Given the description of an element on the screen output the (x, y) to click on. 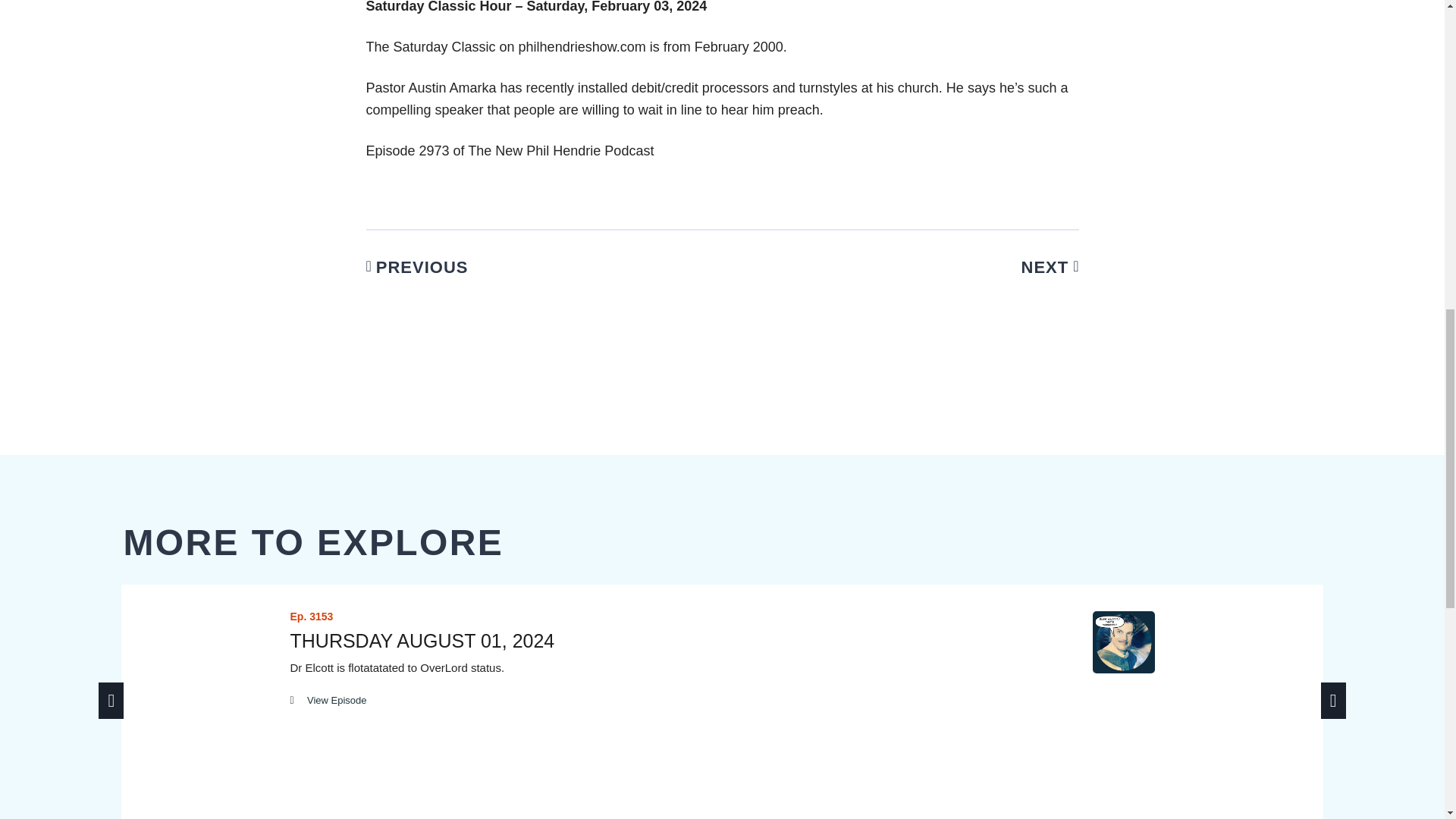
THURSDAY AUGUST 01, 2024 (421, 640)
NEXT (919, 267)
View Episode (327, 700)
PREVIOUS (524, 267)
